Given the description of an element on the screen output the (x, y) to click on. 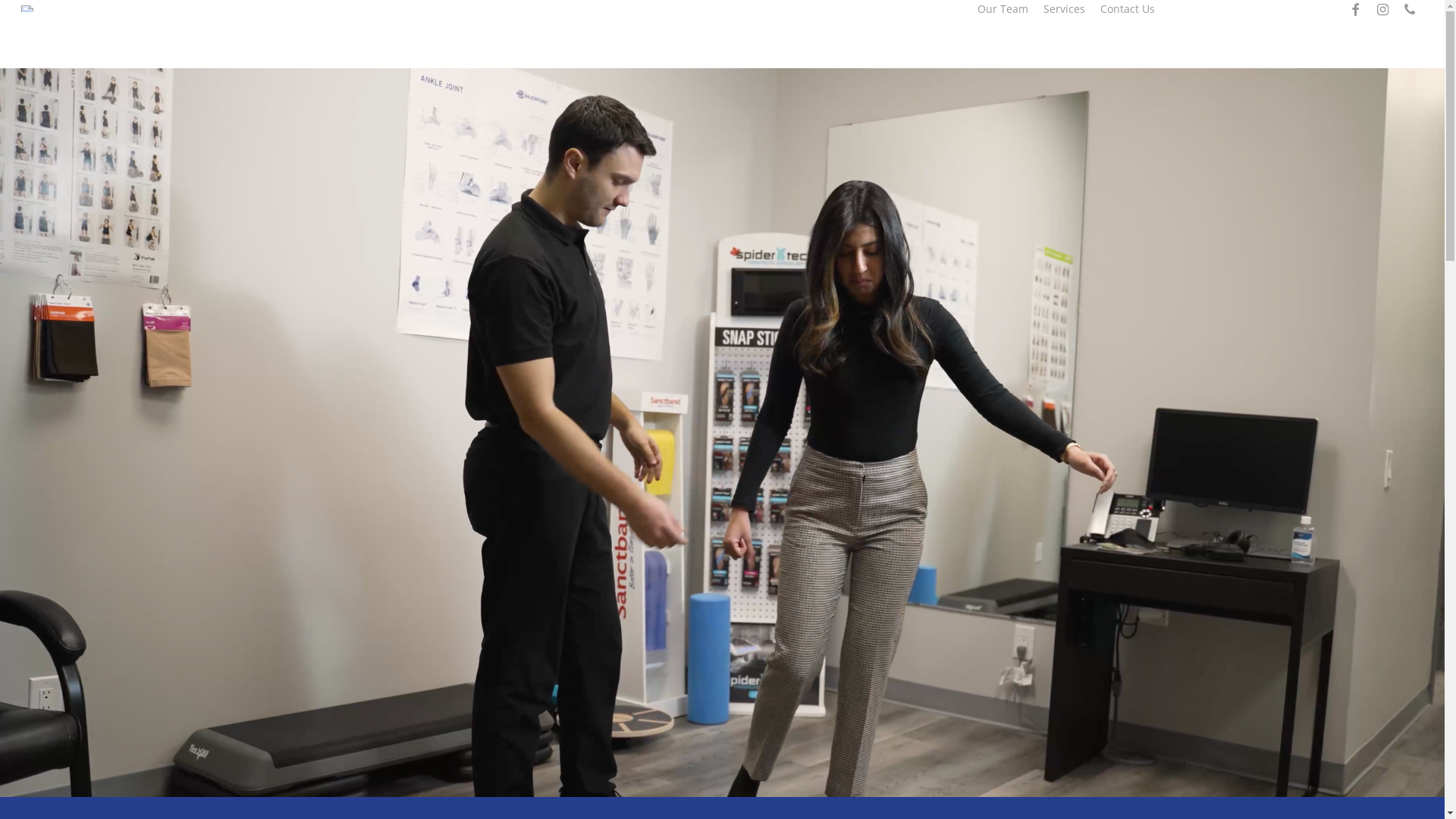
phone Element type: text (1409, 8)
Contact Us Element type: text (1127, 8)
Services Element type: text (1064, 8)
facebook Element type: text (1354, 8)
instagram Element type: text (1382, 8)
Our Team Element type: text (1002, 8)
Book An Appointment Element type: text (1240, 8)
